Given the description of an element on the screen output the (x, y) to click on. 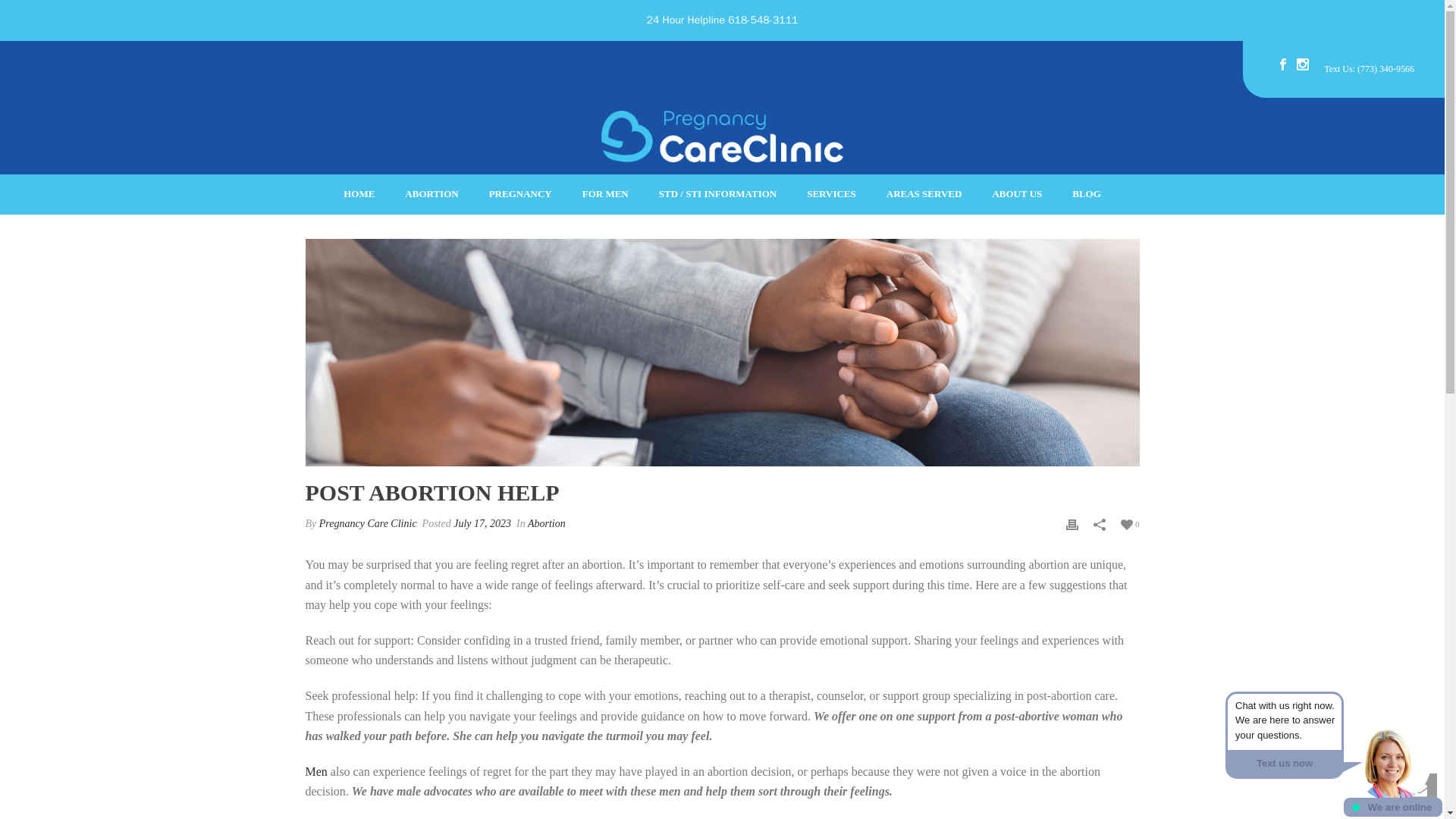
HOME (359, 194)
FOR MEN (605, 194)
ABORTION (431, 194)
ABORTION (431, 194)
BLOG (1086, 194)
ABOUT US (1016, 194)
FOR MEN (605, 194)
HOME (359, 194)
AREAS SERVED (923, 194)
SERVICES (831, 194)
PREGNANCY (520, 194)
SERVICES (831, 194)
AREAS SERVED (923, 194)
PREGNANCY (520, 194)
